Given the description of an element on the screen output the (x, y) to click on. 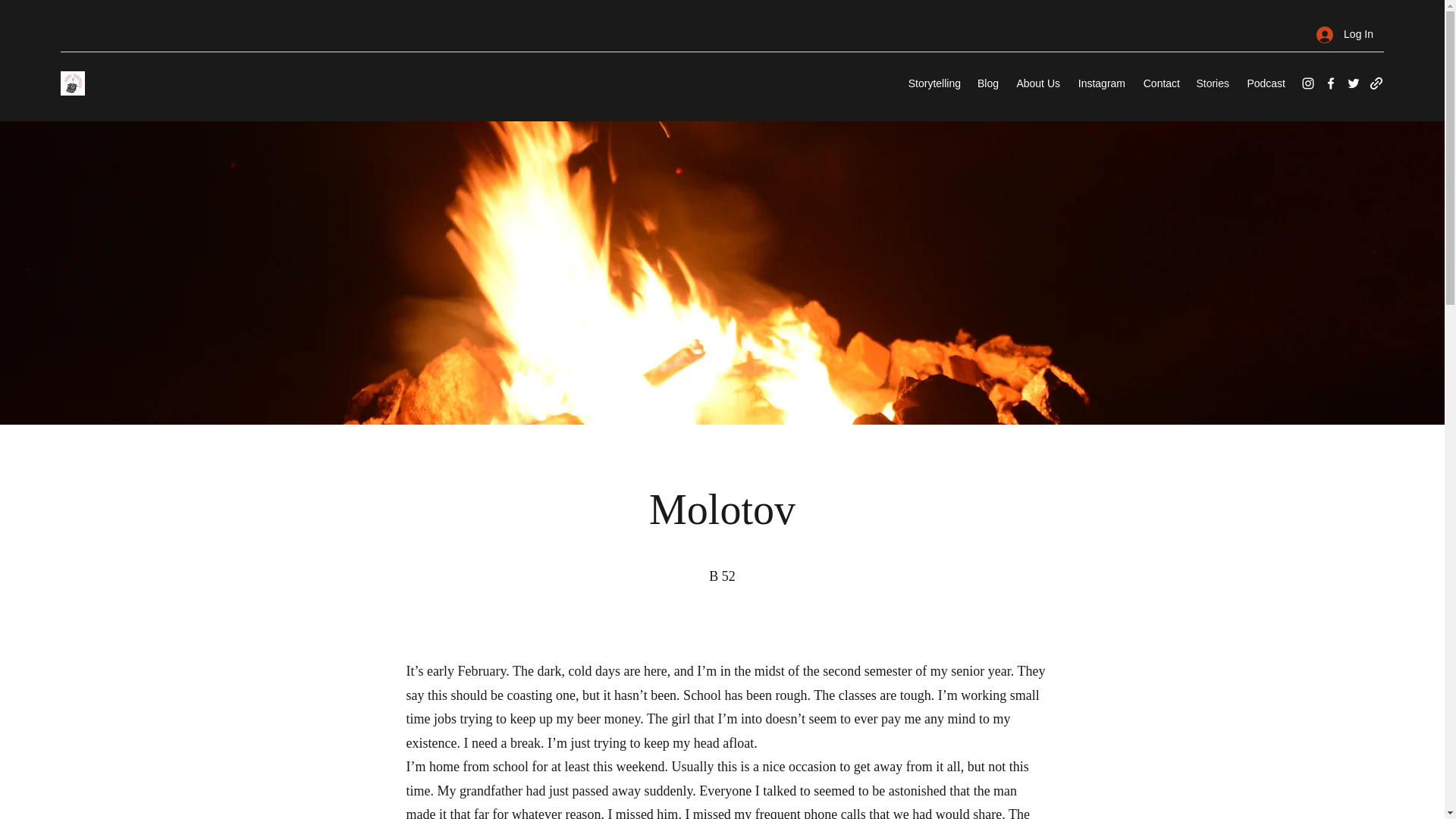
About Us (1036, 83)
Stories (1212, 83)
Storytelling (931, 83)
Podcast (1264, 83)
Log In (1345, 34)
Instagram (1099, 83)
Blog (987, 83)
Contact (1160, 83)
